Given the description of an element on the screen output the (x, y) to click on. 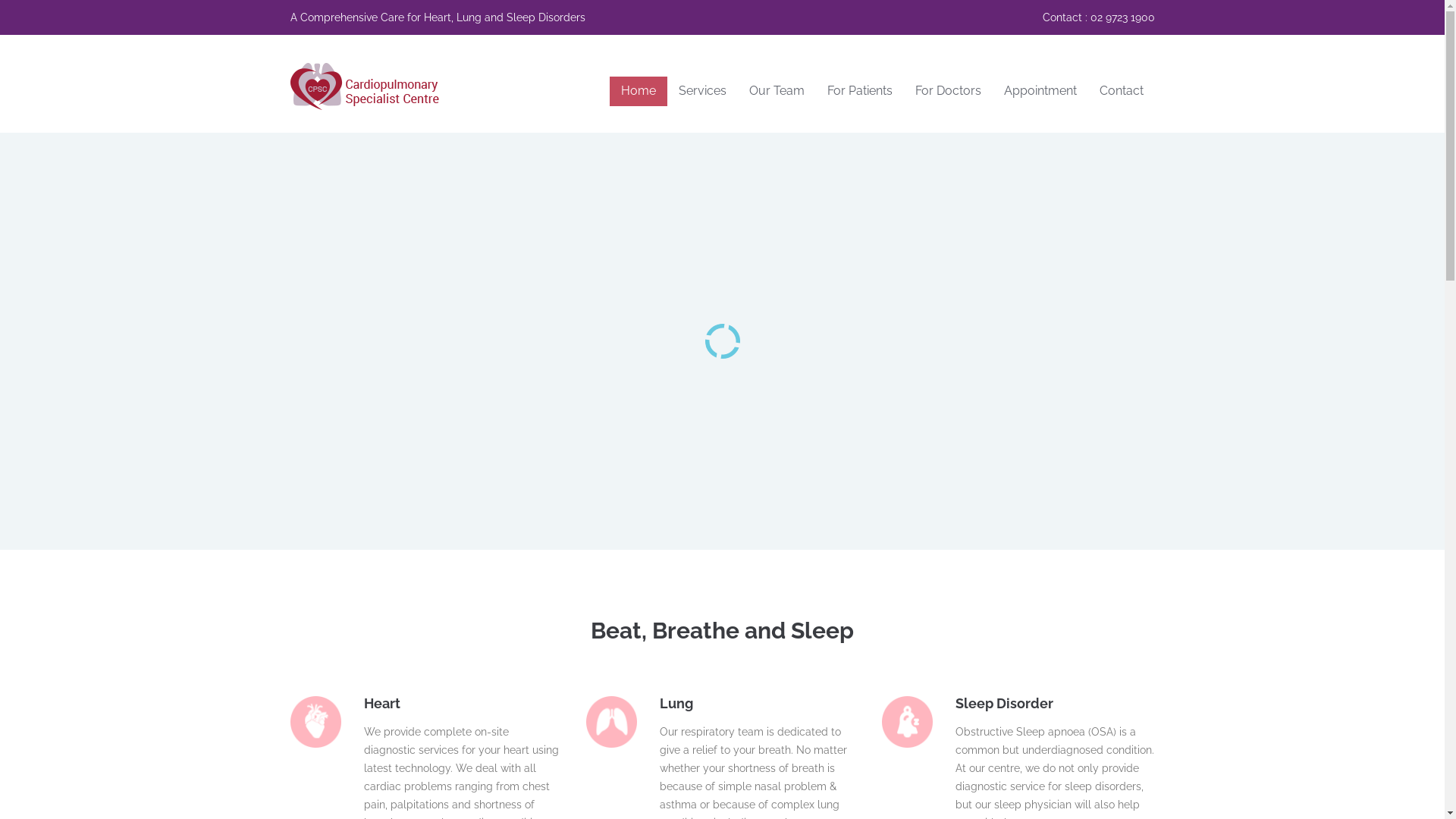
For Patients Element type: text (859, 91)
Sleep Disorder Element type: text (1004, 703)
For Doctors Element type: text (947, 91)
Services Element type: text (702, 91)
Appointment Element type: text (1039, 91)
Lung Element type: text (676, 703)
Contact Element type: text (1120, 91)
Heart Element type: text (382, 703)
Our Team Element type: text (776, 91)
Home Element type: text (638, 91)
